Given the description of an element on the screen output the (x, y) to click on. 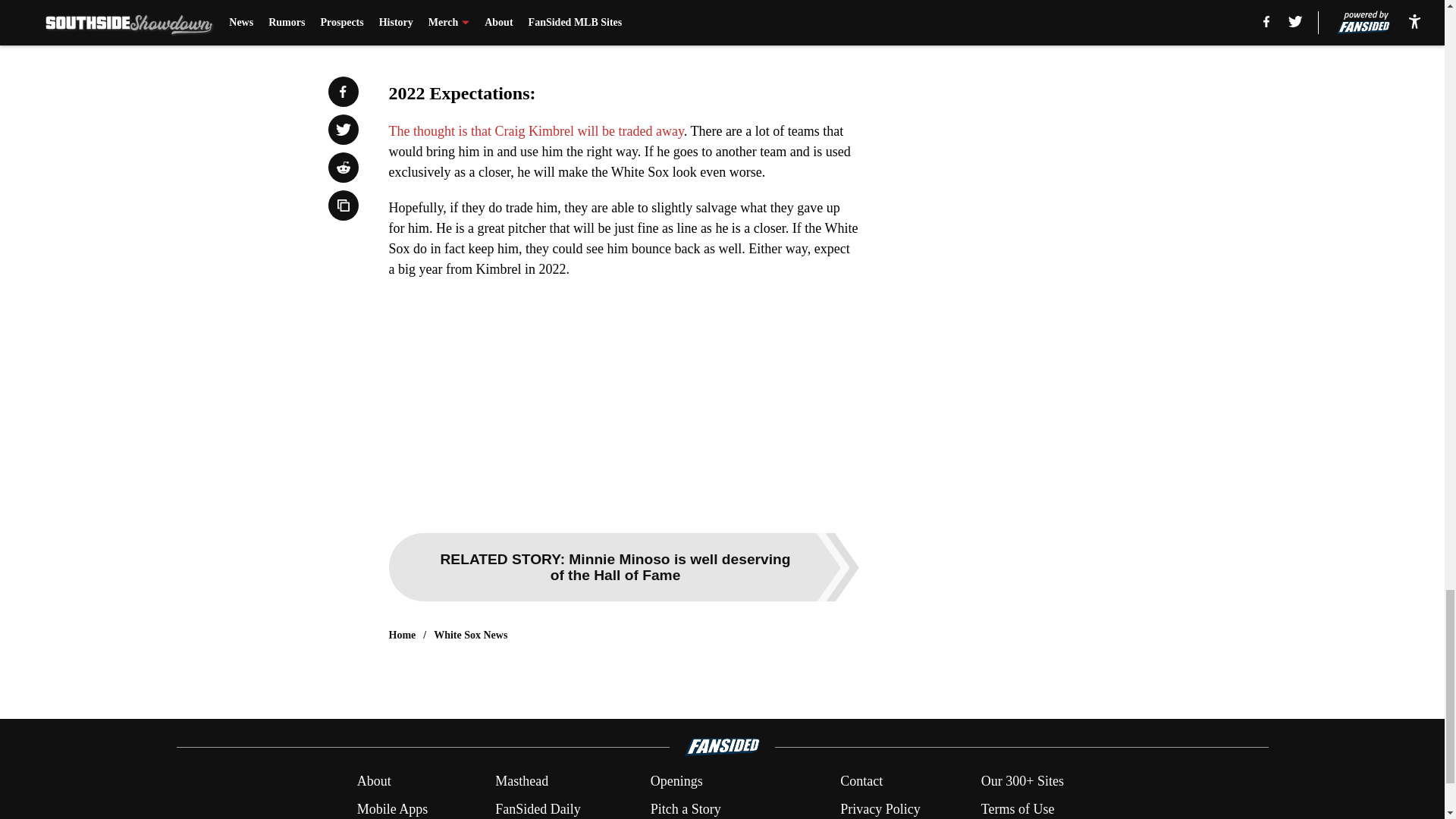
Privacy Policy (880, 809)
Pitch a Story (685, 809)
About (373, 781)
Home (401, 635)
FanSided Daily (537, 809)
Openings (676, 781)
Contact (861, 781)
Mobile Apps (392, 809)
Masthead (521, 781)
Terms of Use (1017, 809)
White Sox News (469, 635)
The thought is that Craig Kimbrel will be traded away (535, 130)
